Given the description of an element on the screen output the (x, y) to click on. 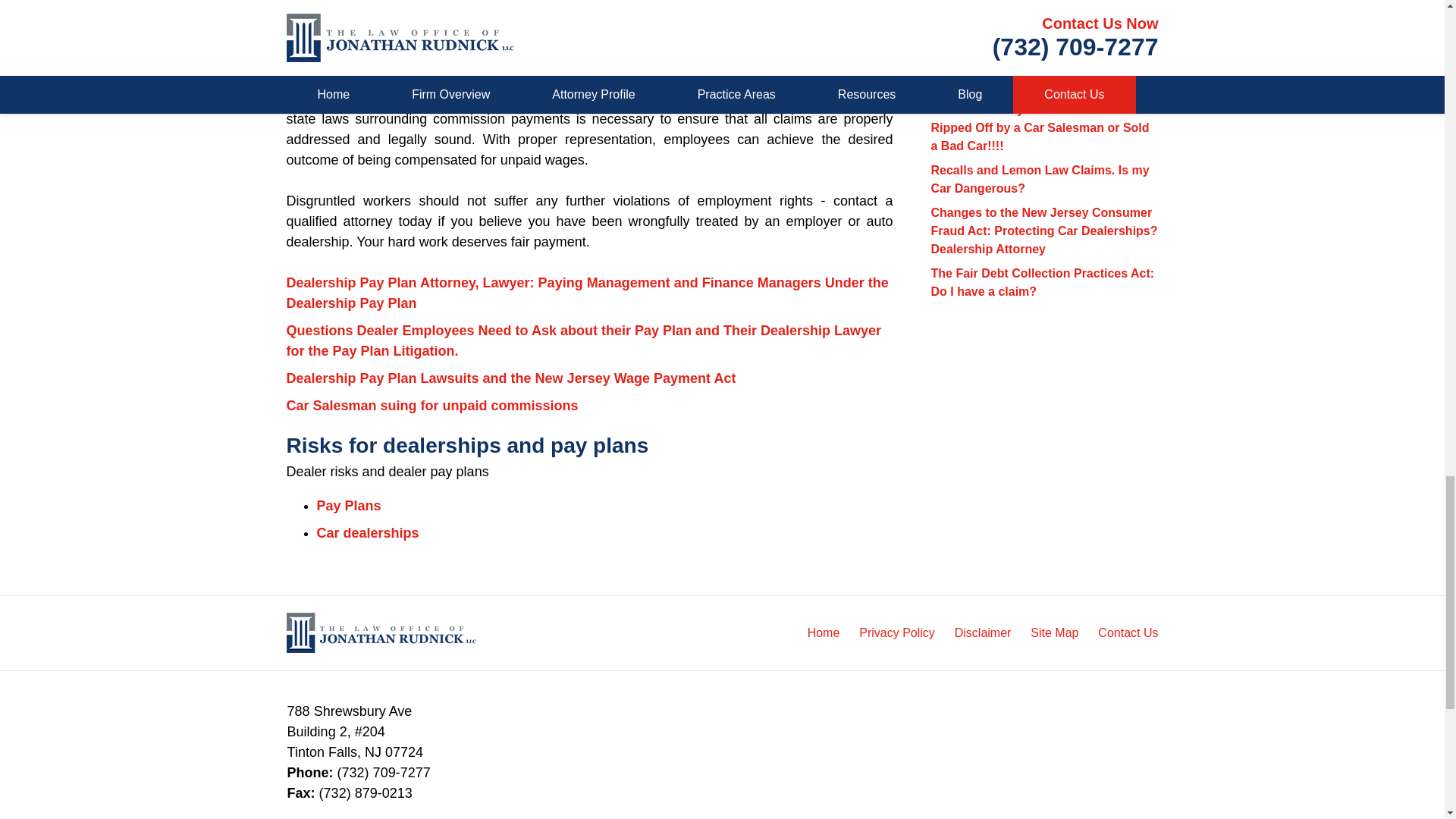
Pay Plans (349, 505)
Car Salesman suing for unpaid commissions (432, 405)
Car dealerships (368, 532)
